Given the description of an element on the screen output the (x, y) to click on. 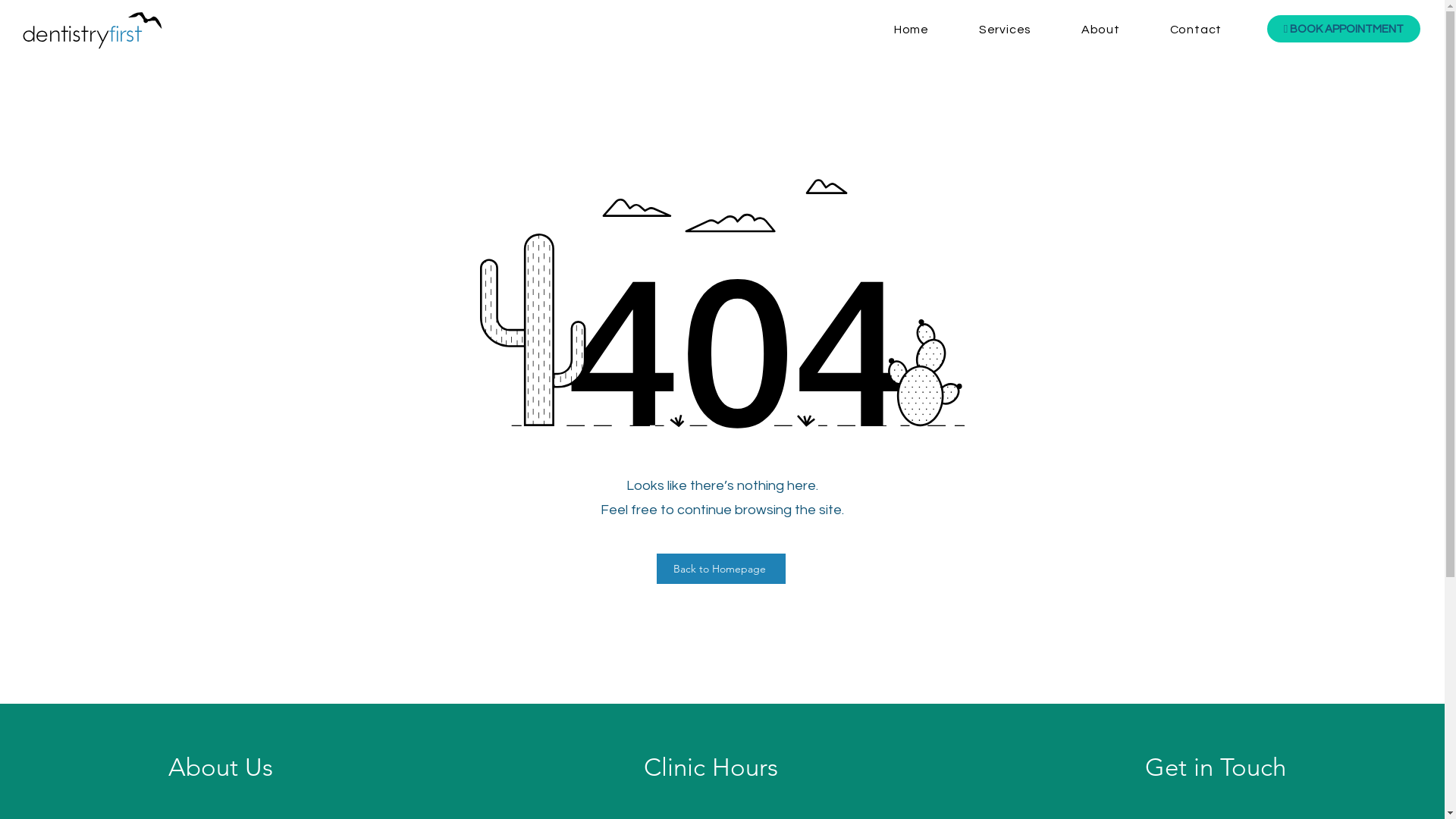
About Element type: text (1100, 29)
Contact Element type: text (1195, 29)
Services Element type: text (1005, 29)
Back to Homepage Element type: text (720, 568)
Home Element type: text (911, 29)
